Given the description of an element on the screen output the (x, y) to click on. 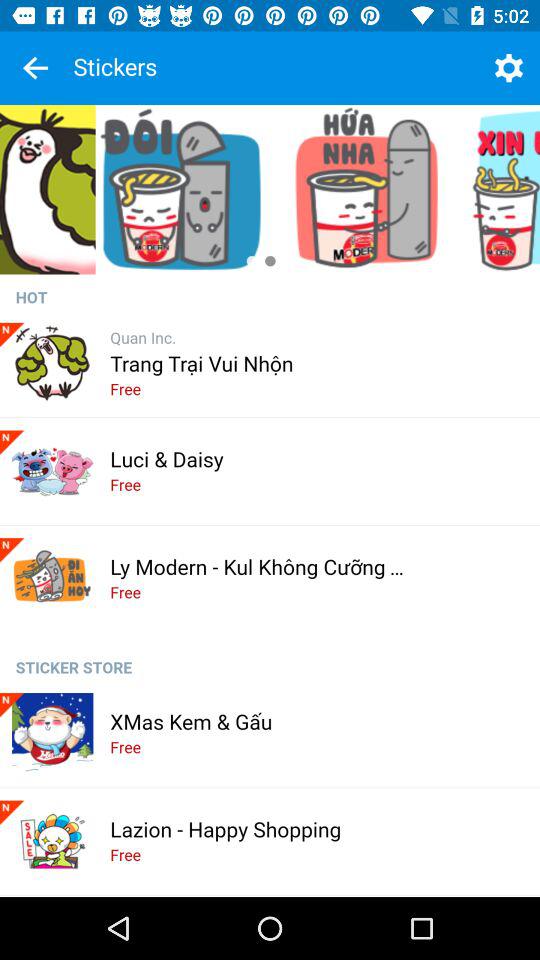
enter configurations (508, 68)
